Given the description of an element on the screen output the (x, y) to click on. 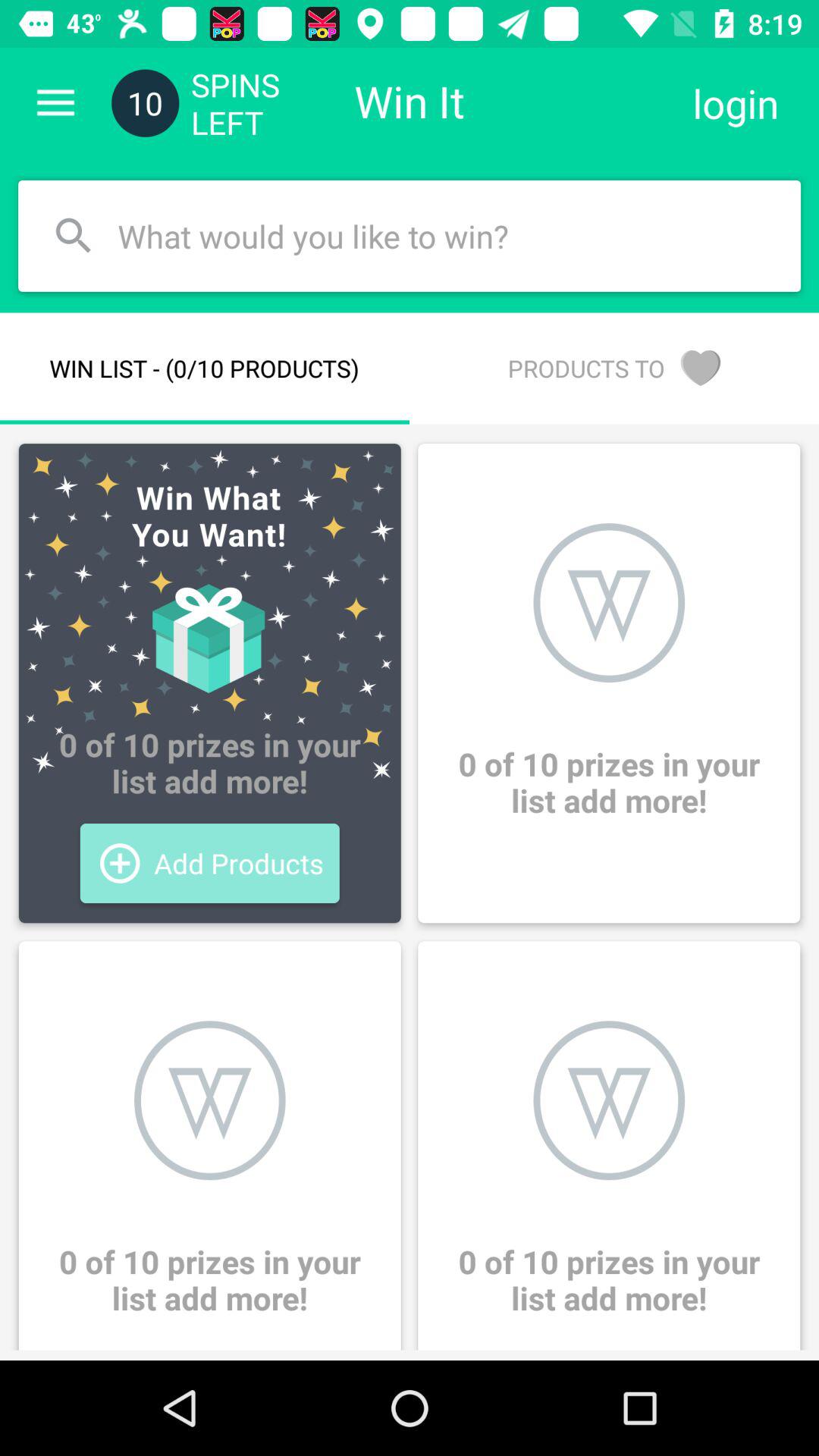
open the login icon (735, 102)
